Given the description of an element on the screen output the (x, y) to click on. 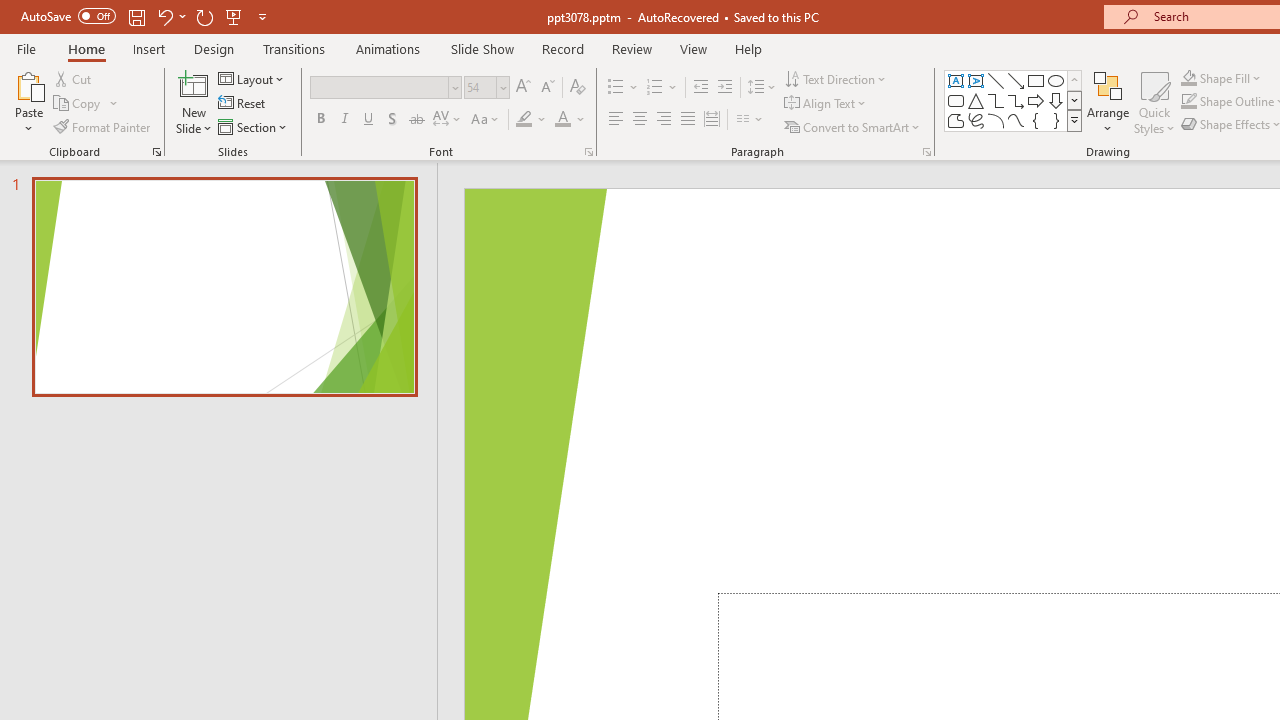
Shape Outline Green, Accent 1 (1188, 101)
